Given the description of an element on the screen output the (x, y) to click on. 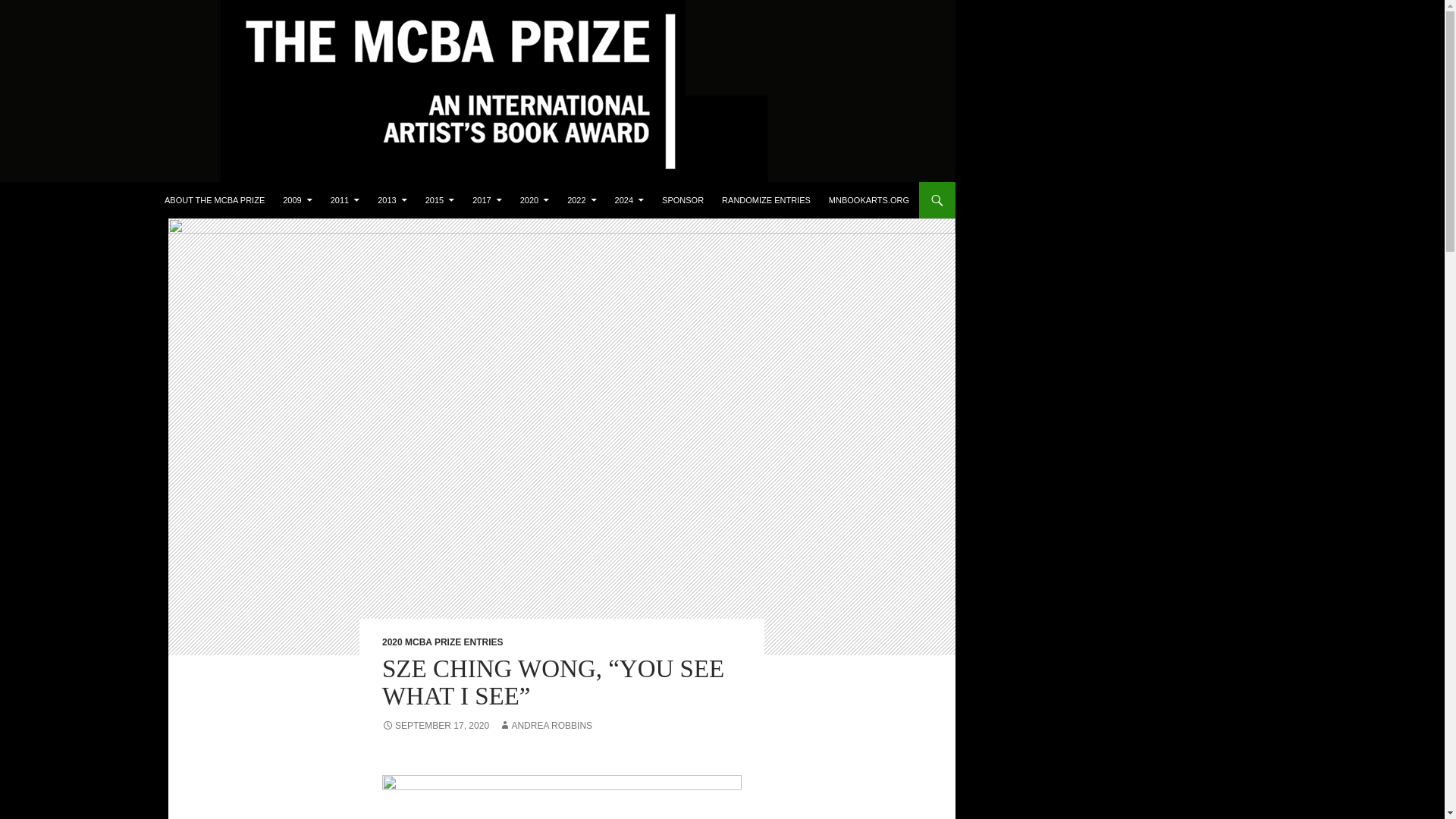
2009 (296, 199)
2022 (581, 199)
The MCBA Prize (73, 199)
ABOUT THE MCBA PRIZE (214, 199)
2015 (439, 199)
2011 (344, 199)
2020 (534, 199)
2017 (487, 199)
2013 (391, 199)
